Given the description of an element on the screen output the (x, y) to click on. 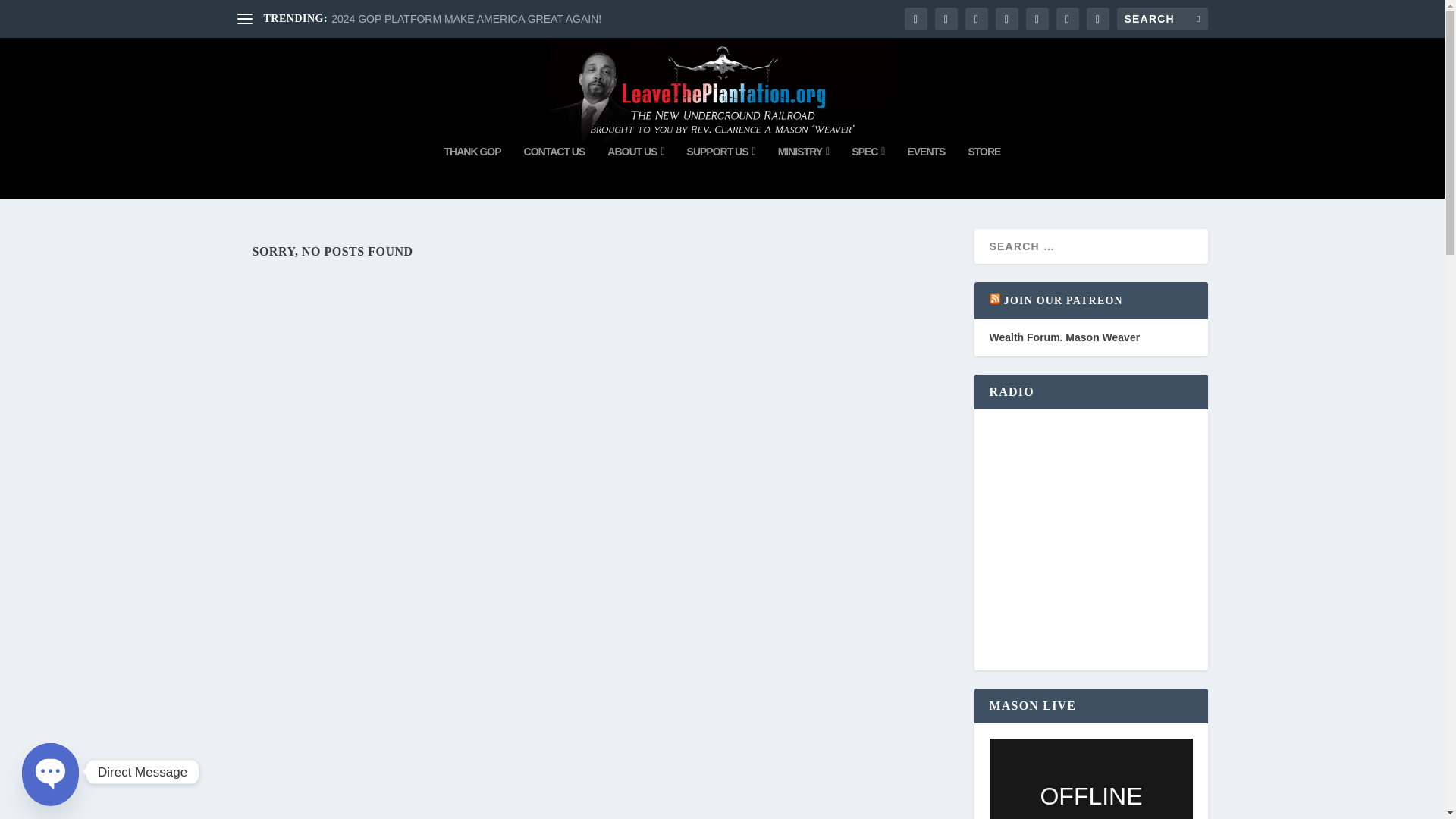
ABOUT US (635, 172)
SUPPORT US (721, 172)
MINISTRY (803, 172)
THANK GOP (472, 172)
2024 GOP PLATFORM MAKE AMERICA GREAT AGAIN! (466, 19)
Search for: (1161, 18)
CONTACT US (554, 172)
